Given the description of an element on the screen output the (x, y) to click on. 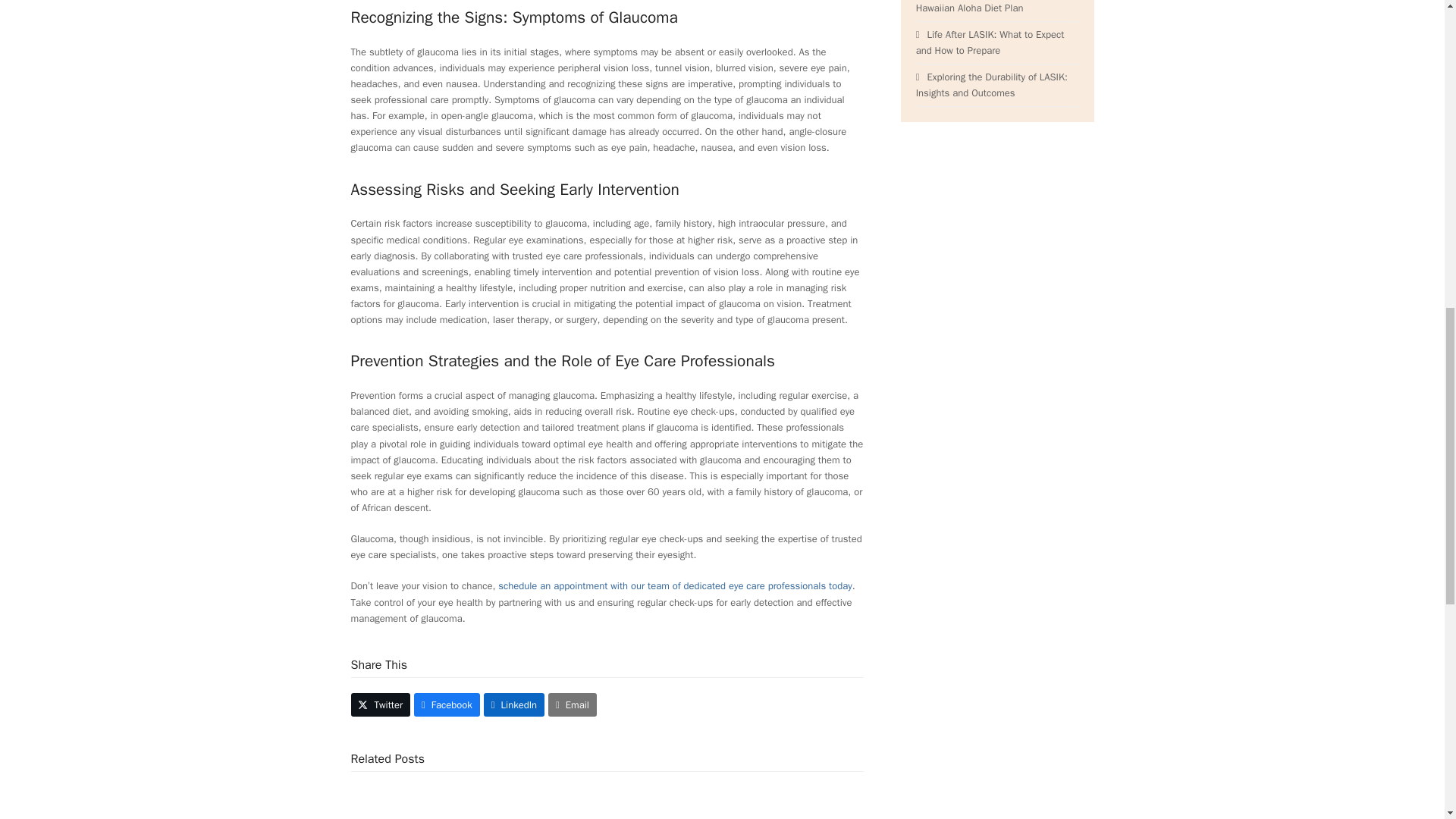
Twitter (380, 704)
LinkedIn (513, 704)
Facebook (446, 704)
Email (572, 704)
